Given the description of an element on the screen output the (x, y) to click on. 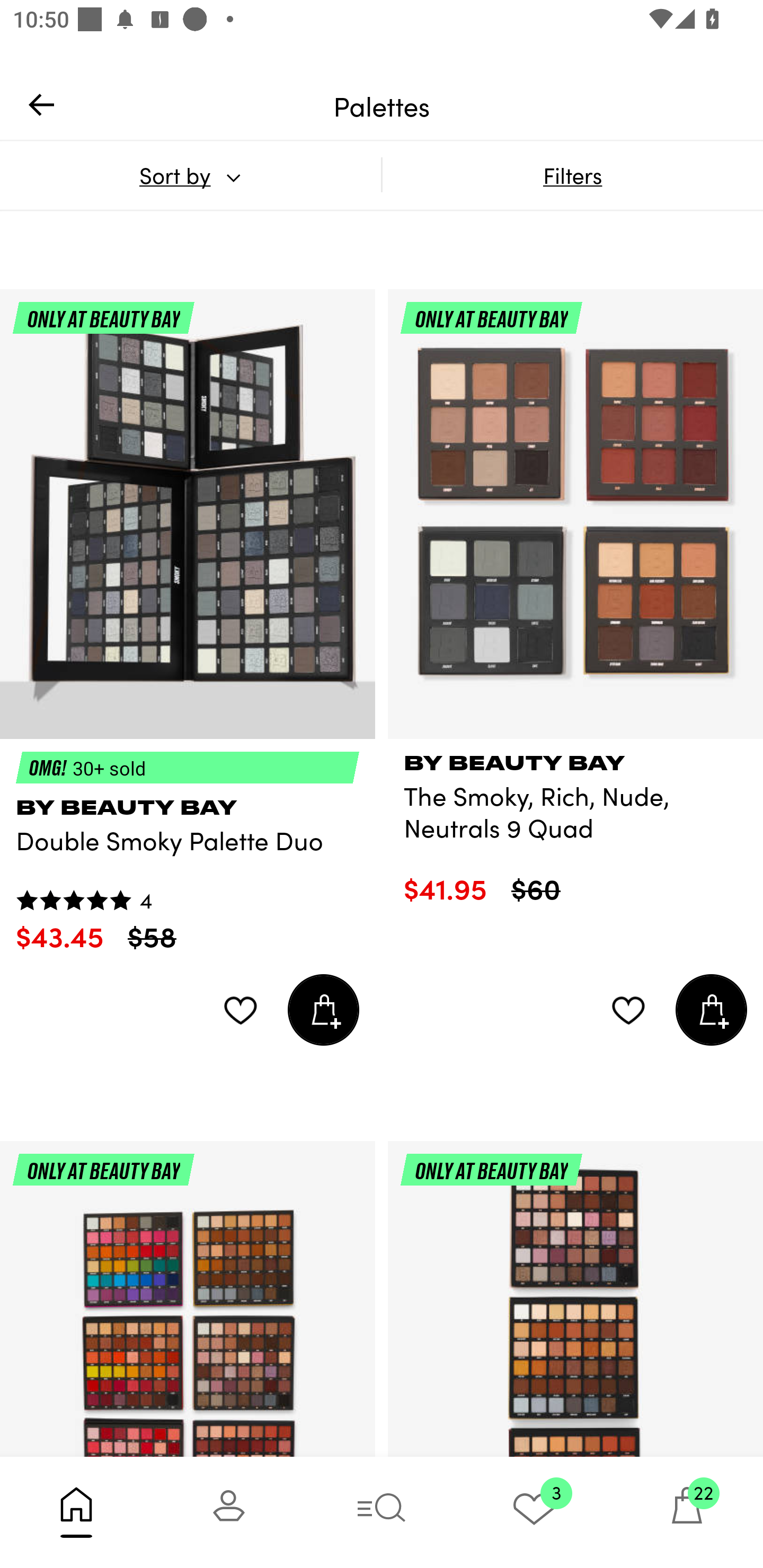
Sort by (190, 174)
Filters (572, 174)
3 (533, 1512)
22 (686, 1512)
